Given the description of an element on the screen output the (x, y) to click on. 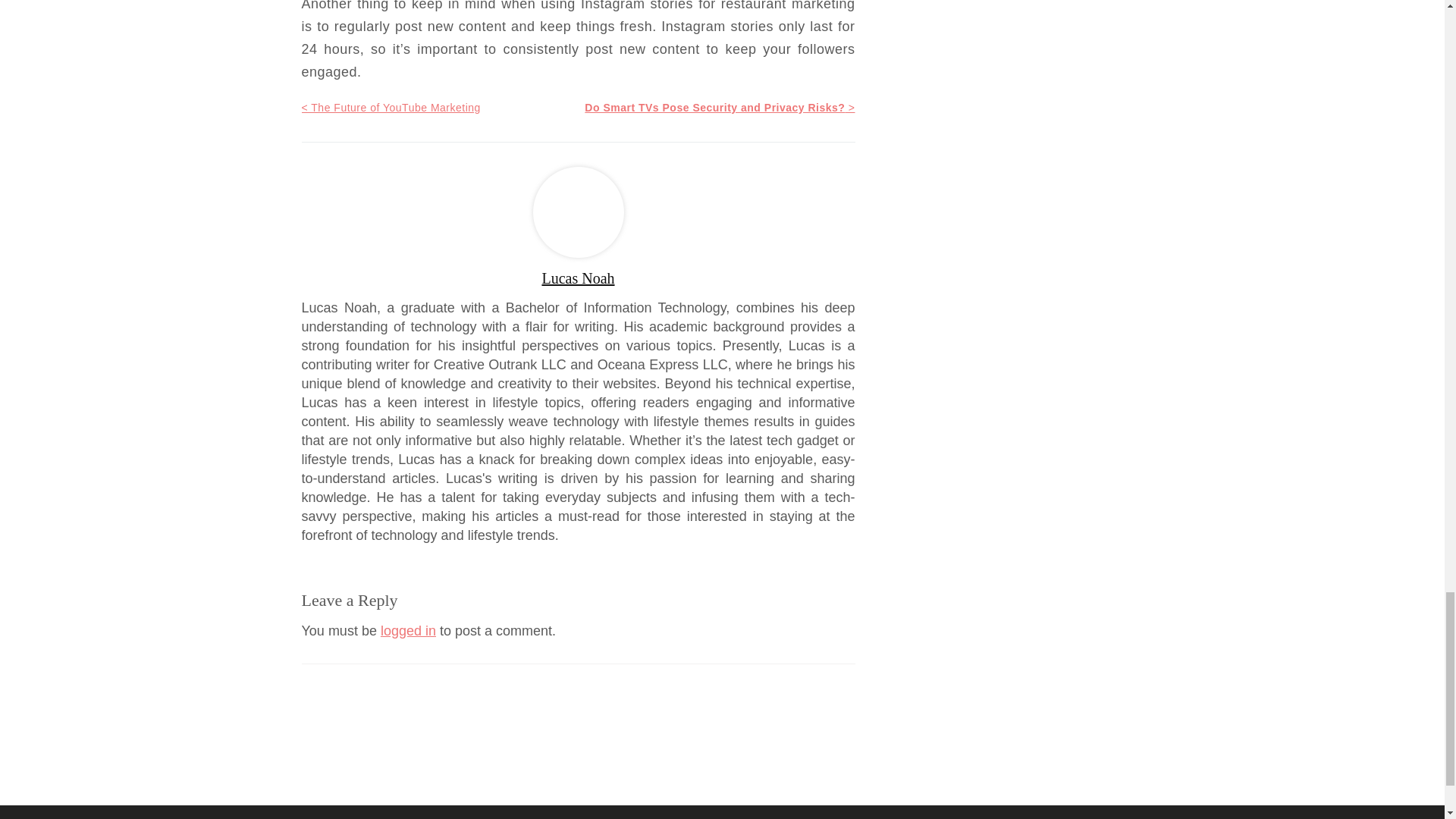
Posts by Lucas Noah (577, 278)
logged in (407, 630)
Lucas Noah (577, 278)
